Given the description of an element on the screen output the (x, y) to click on. 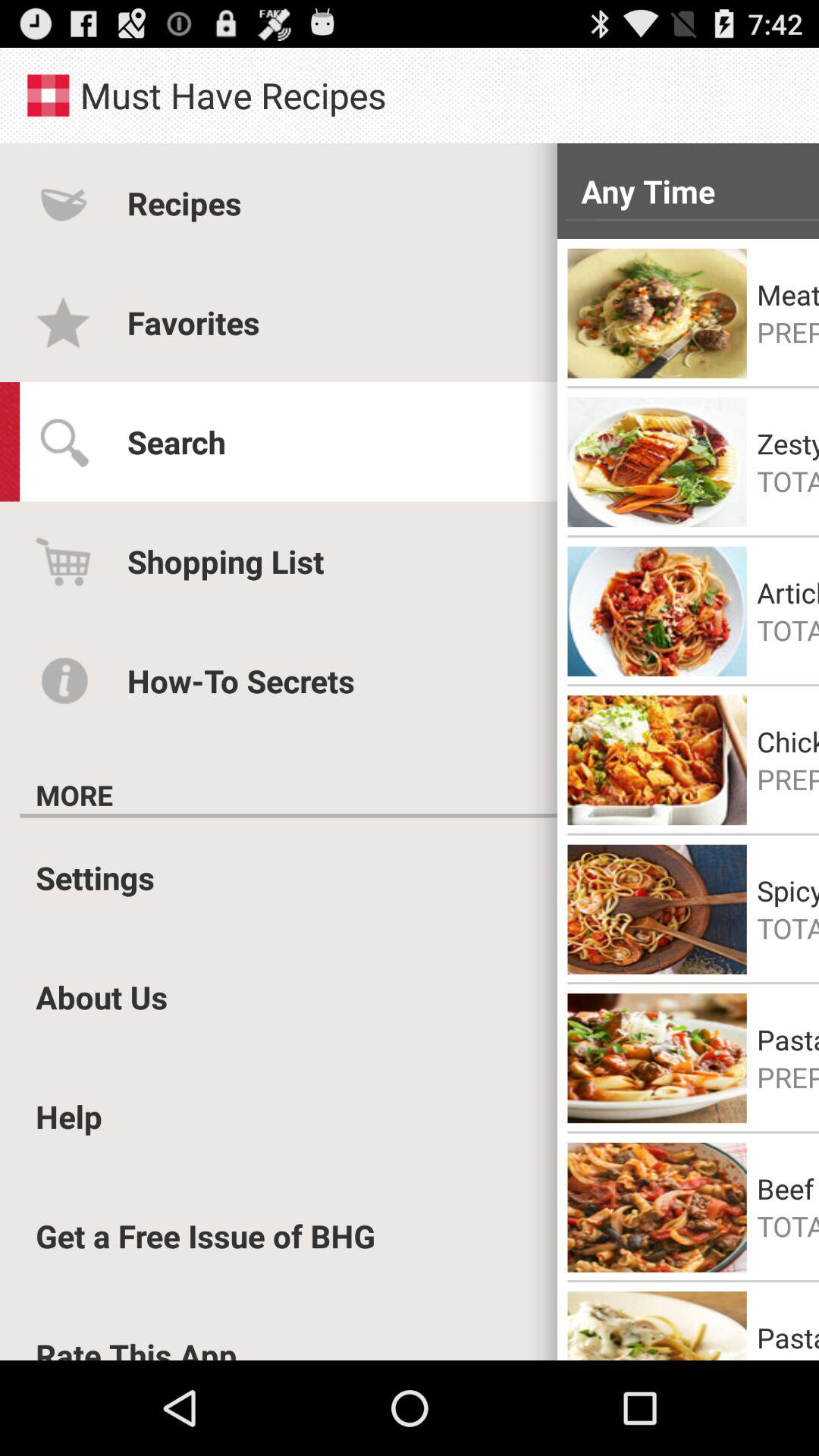
swipe to the help app (68, 1116)
